Given the description of an element on the screen output the (x, y) to click on. 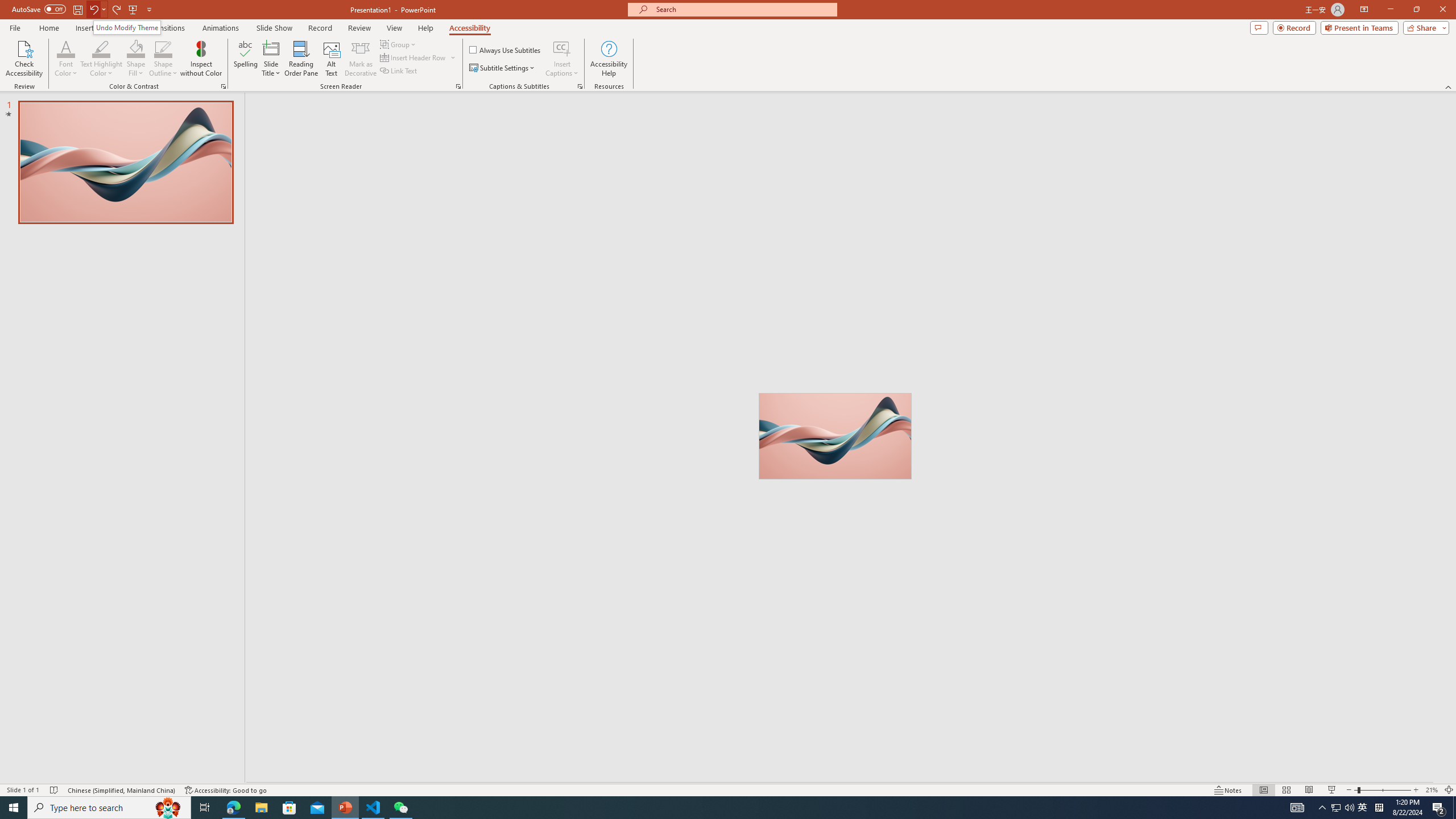
Subtitle Settings (502, 67)
Undo Modify Theme (127, 27)
Spelling... (245, 58)
